Given the description of an element on the screen output the (x, y) to click on. 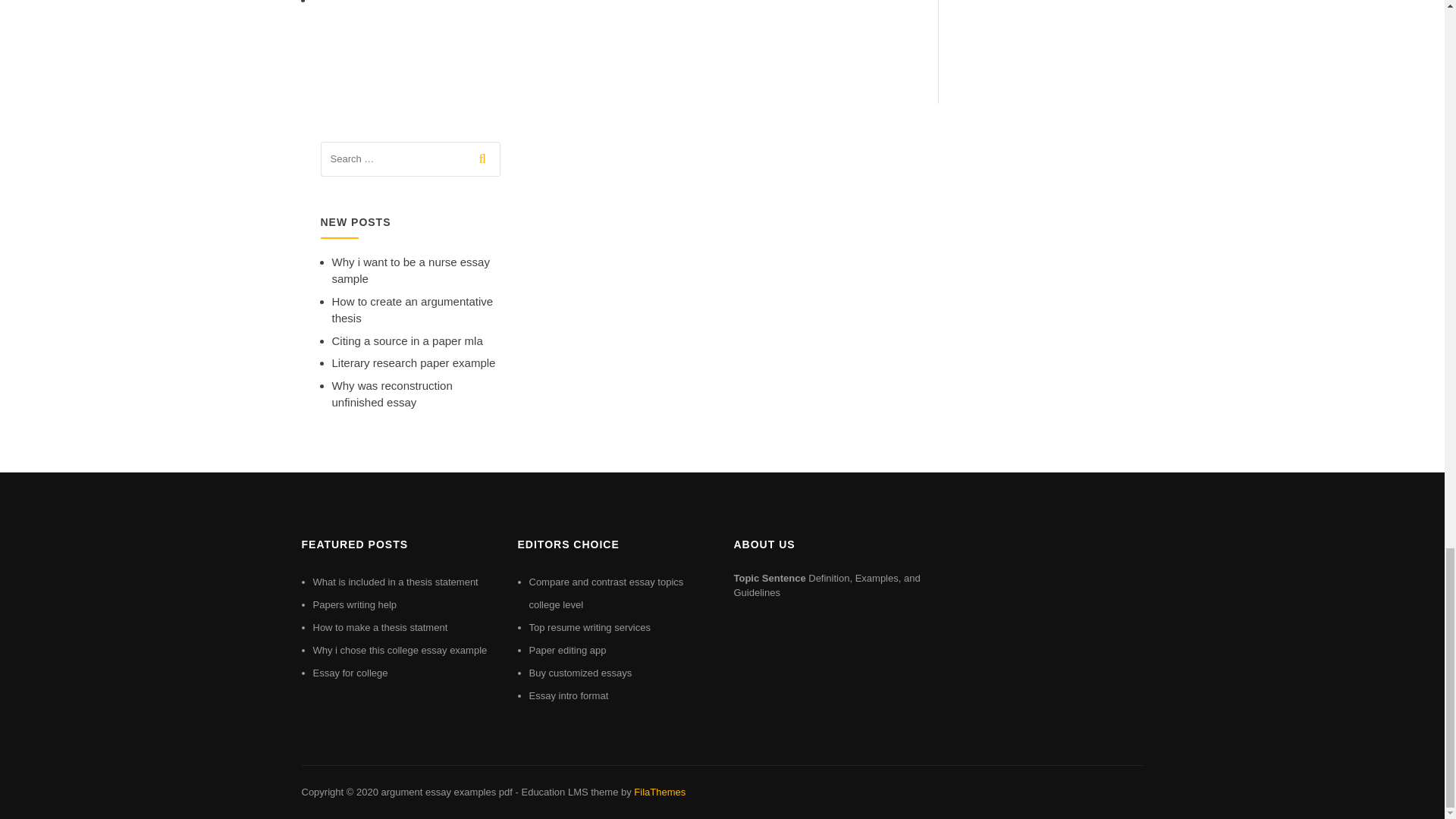
Why was reconstruction unfinished essay (391, 394)
Top resume writing services (589, 627)
How to make a thesis statment (379, 627)
Why i chose this college essay example (399, 650)
Compare and contrast essay topics college level (606, 593)
How to create an argumentative thesis (412, 309)
argument essay examples pdf (446, 791)
What is included in a thesis statement (395, 582)
argument essay examples pdf (446, 791)
Papers writing help (354, 604)
Paper editing app (568, 650)
Essay intro format (568, 695)
Why i want to be a nurse essay sample (410, 270)
Buy customized essays (580, 672)
Essay for college (350, 672)
